Given the description of an element on the screen output the (x, y) to click on. 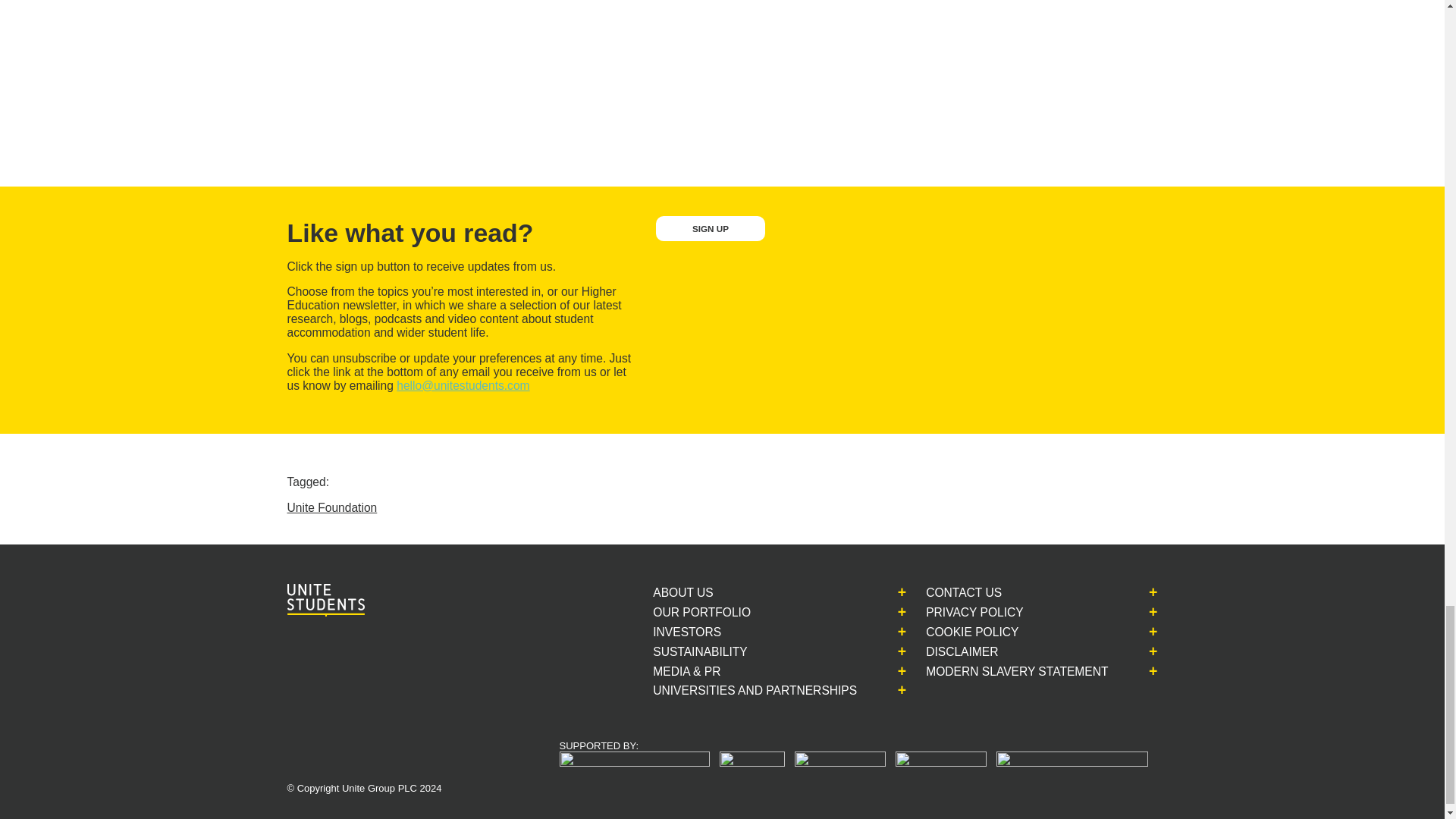
Privacy policy (999, 612)
Disclaimer (986, 651)
Cookie policy (996, 631)
Contact us (988, 592)
Modern Slavery Statement (1041, 671)
Sustainability (724, 651)
Our portfolio (725, 612)
S03E03: Unite Foundation takeover (563, 69)
Investors (711, 631)
About us (706, 592)
Universities and partnerships (778, 689)
